Given the description of an element on the screen output the (x, y) to click on. 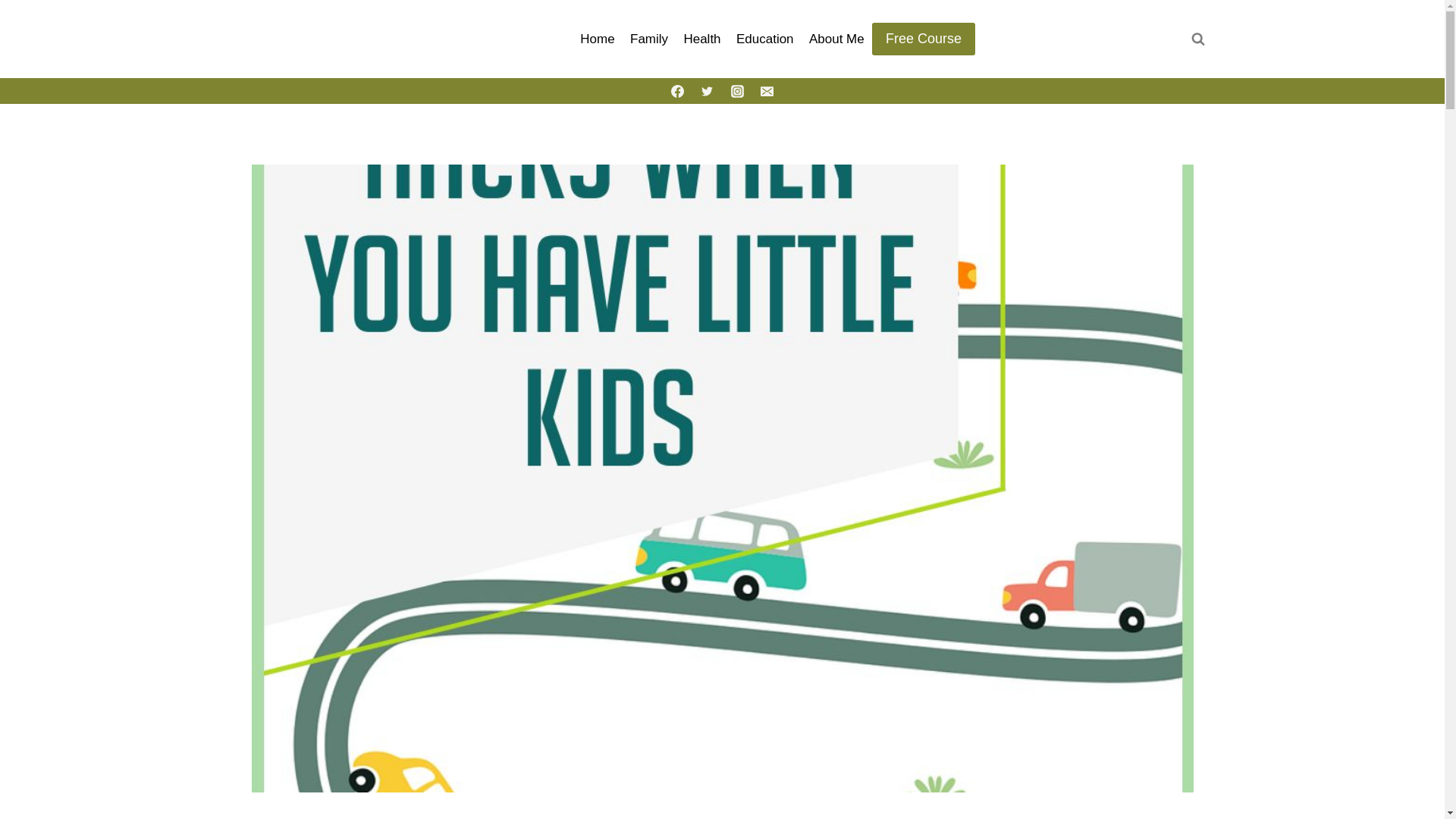
Health (702, 39)
About Me (837, 39)
Education (765, 39)
Family (649, 39)
Free Course (923, 38)
Home (597, 39)
